Given the description of an element on the screen output the (x, y) to click on. 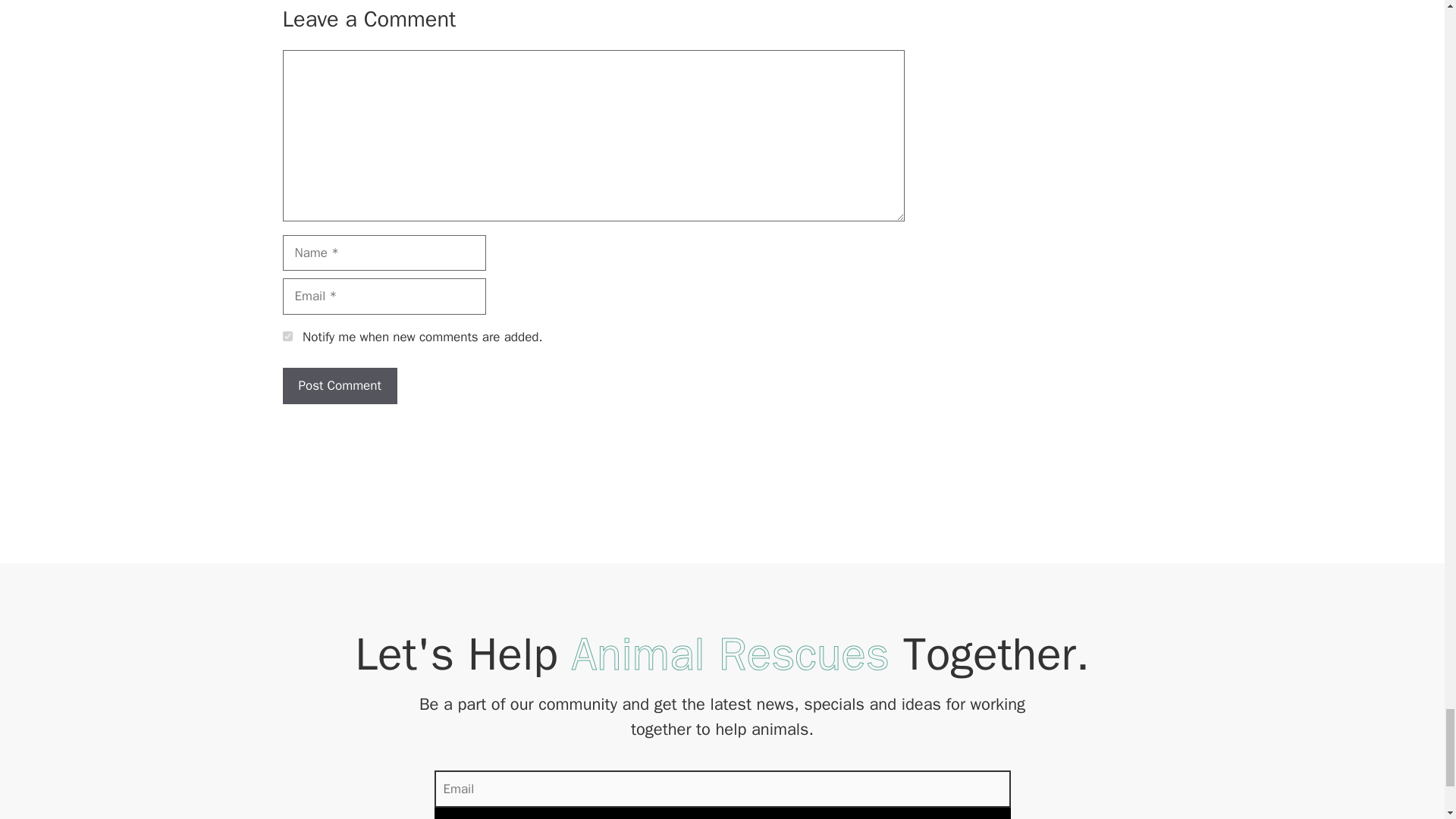
Join The Pack! (721, 813)
Post Comment (339, 385)
1 (287, 336)
